Given the description of an element on the screen output the (x, y) to click on. 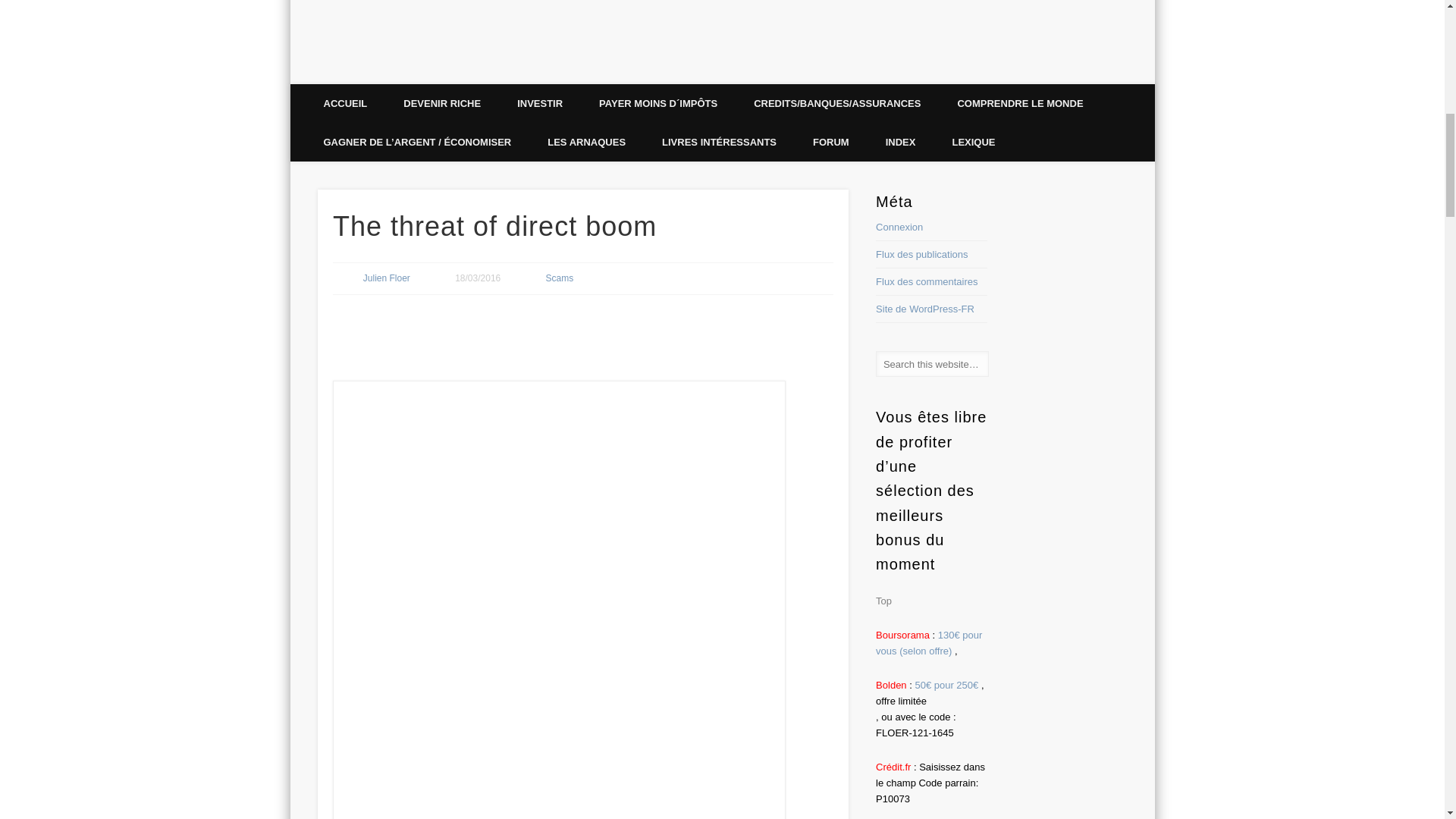
Articles par Julien Floer (386, 277)
Share on tumblr (552, 330)
Share on Twitter (390, 330)
ACCUEIL (344, 103)
Pin it with Pinterest (470, 330)
Pin it with Pinterest (470, 330)
Share on Facebook (350, 330)
DEVENIR RICHE (442, 103)
Share on tumblr (551, 330)
INVESTIR (539, 103)
